Given the description of an element on the screen output the (x, y) to click on. 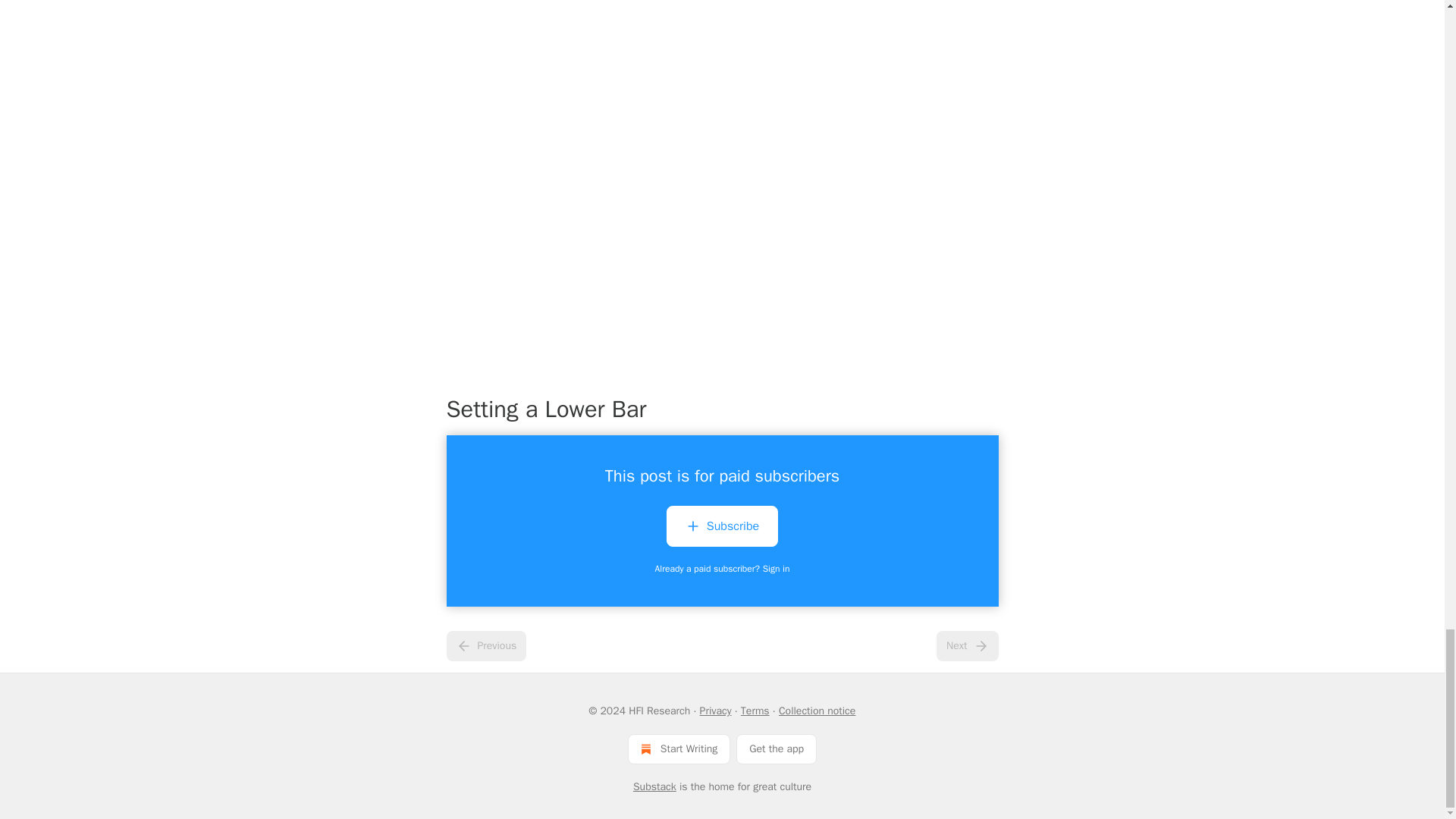
Collection notice (817, 710)
Subscribe (721, 529)
Already a paid subscriber? Sign in (722, 568)
Next (966, 645)
Subscribe (721, 526)
Terms (755, 710)
Previous (485, 645)
Privacy (716, 710)
